Given the description of an element on the screen output the (x, y) to click on. 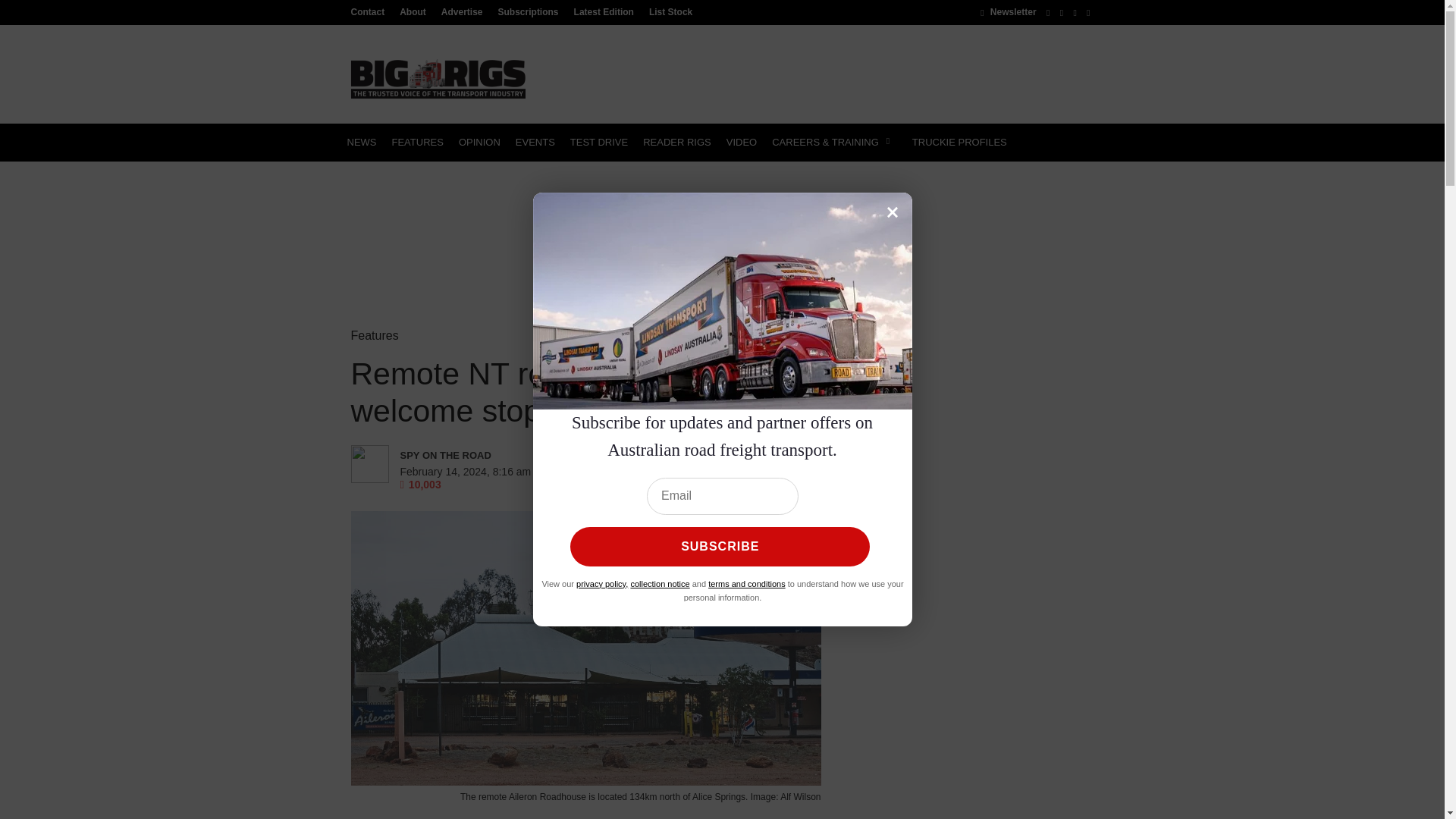
Share on Twitter (635, 472)
MARKETPLACE (383, 180)
Share on LinkedIn (665, 472)
Share on Email (728, 472)
Share on Copy Link (759, 472)
List Stock (667, 11)
Views (420, 484)
TEST DRIVE (598, 142)
Features (373, 335)
READER RIGS (676, 142)
TRUCKIE PROFILES (959, 142)
3rd party ad content (817, 74)
Contact (370, 11)
Newsletter (1007, 11)
OPINION (479, 142)
